Given the description of an element on the screen output the (x, y) to click on. 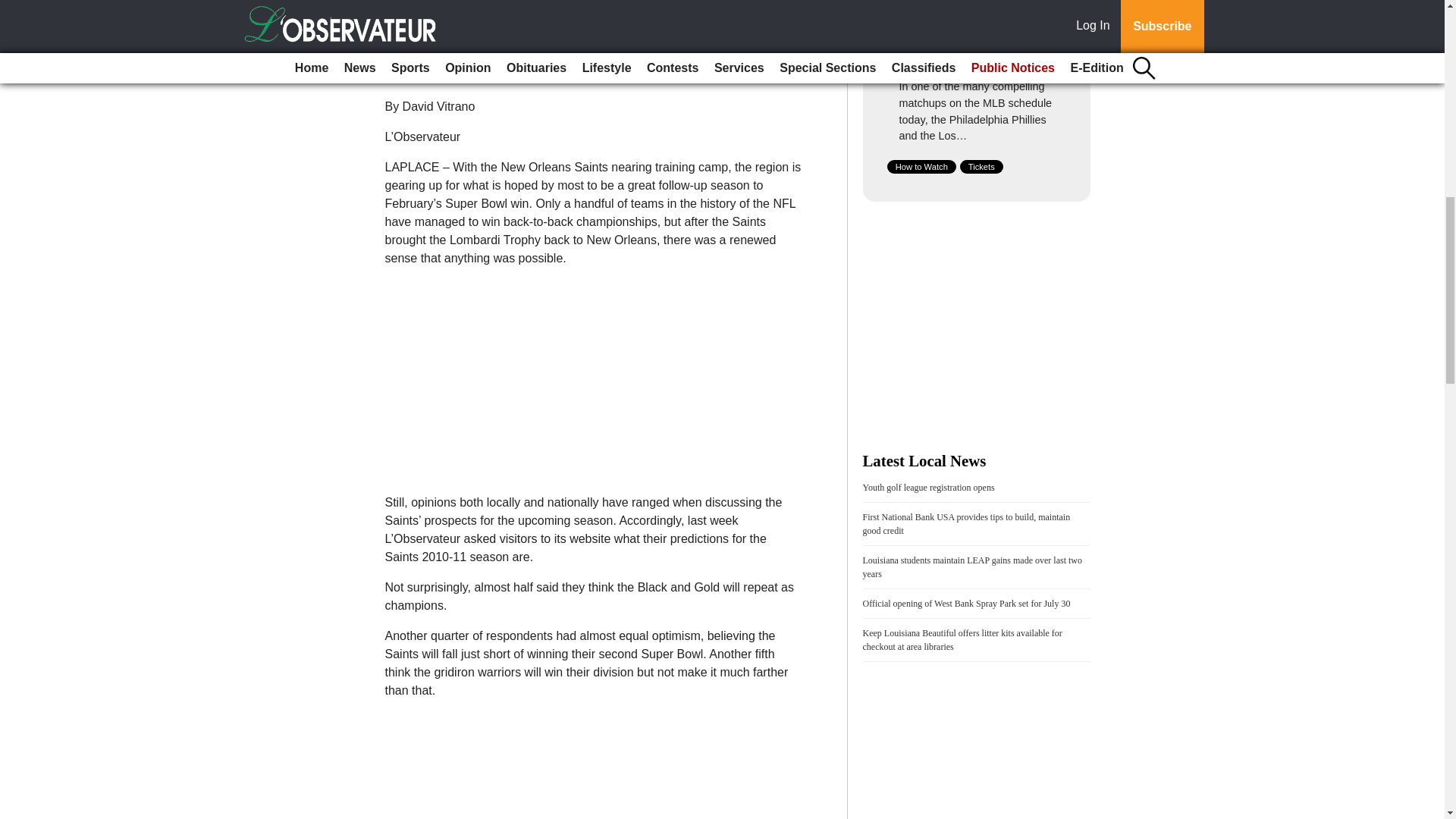
Tickets (981, 166)
How to Watch (921, 166)
Youth golf league registration opens (928, 487)
Official opening of West Bank Spray Park set for July 30 (966, 603)
